Given the description of an element on the screen output the (x, y) to click on. 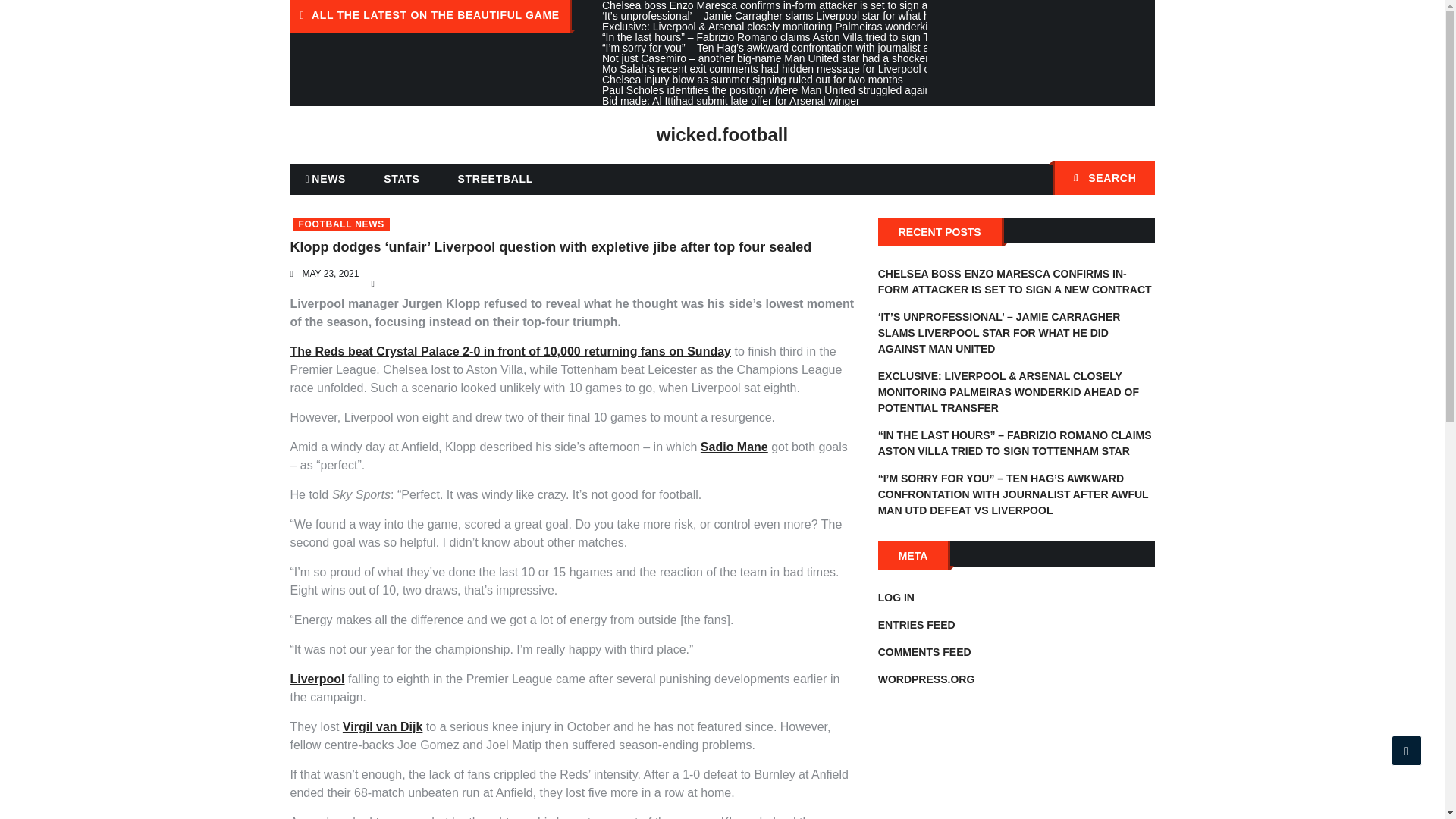
Search (1135, 178)
LOG IN (895, 597)
Search (1135, 178)
FOOTBALL NEWS (341, 223)
ENTRIES FEED (916, 624)
STATS (400, 178)
MAY 23, 2021 (329, 273)
Virgil van Dijk (382, 726)
WORDPRESS.ORG (926, 679)
